Given the description of an element on the screen output the (x, y) to click on. 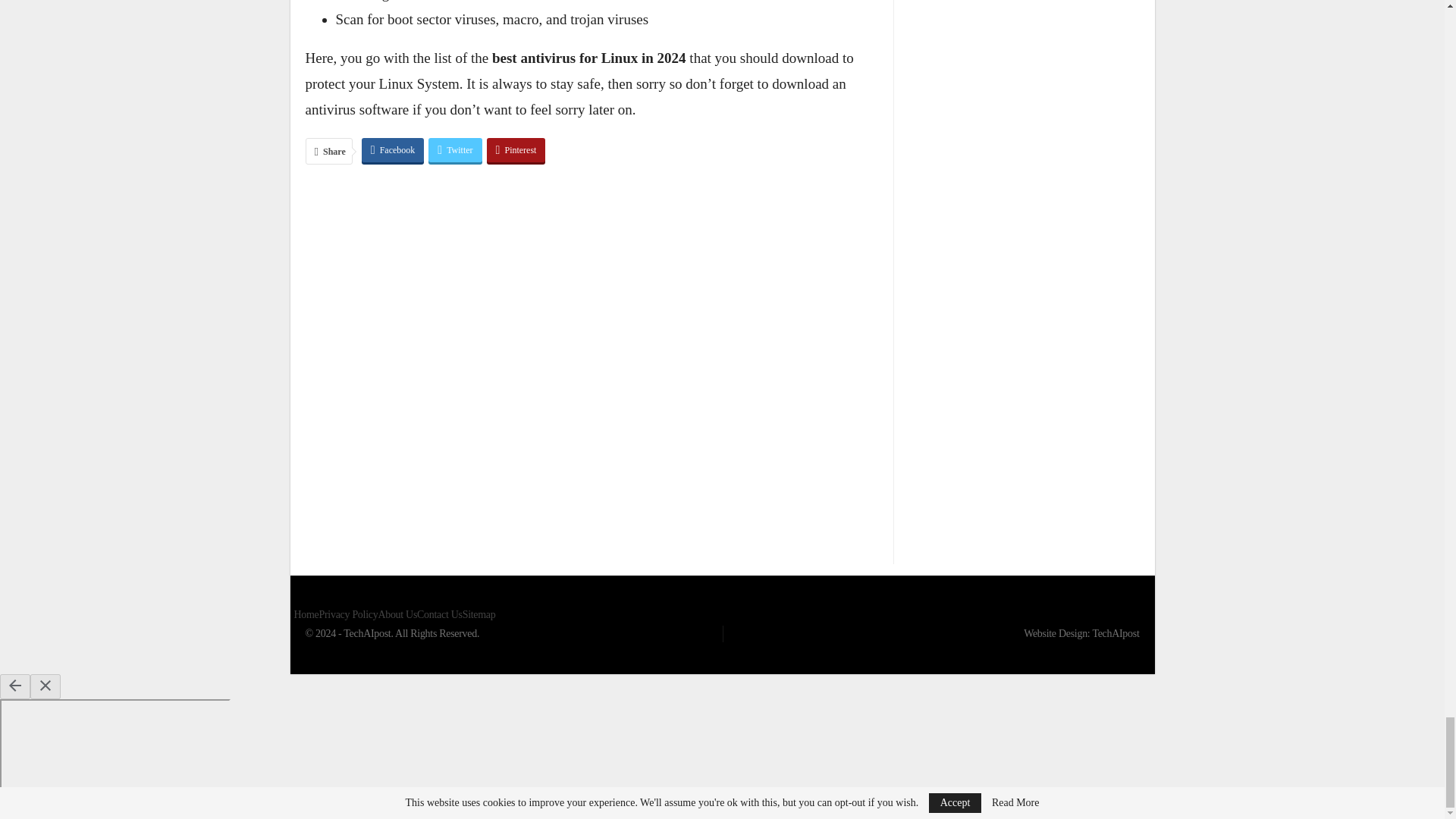
Facebook (393, 150)
Pinterest (516, 150)
Twitter (454, 150)
